Given the description of an element on the screen output the (x, y) to click on. 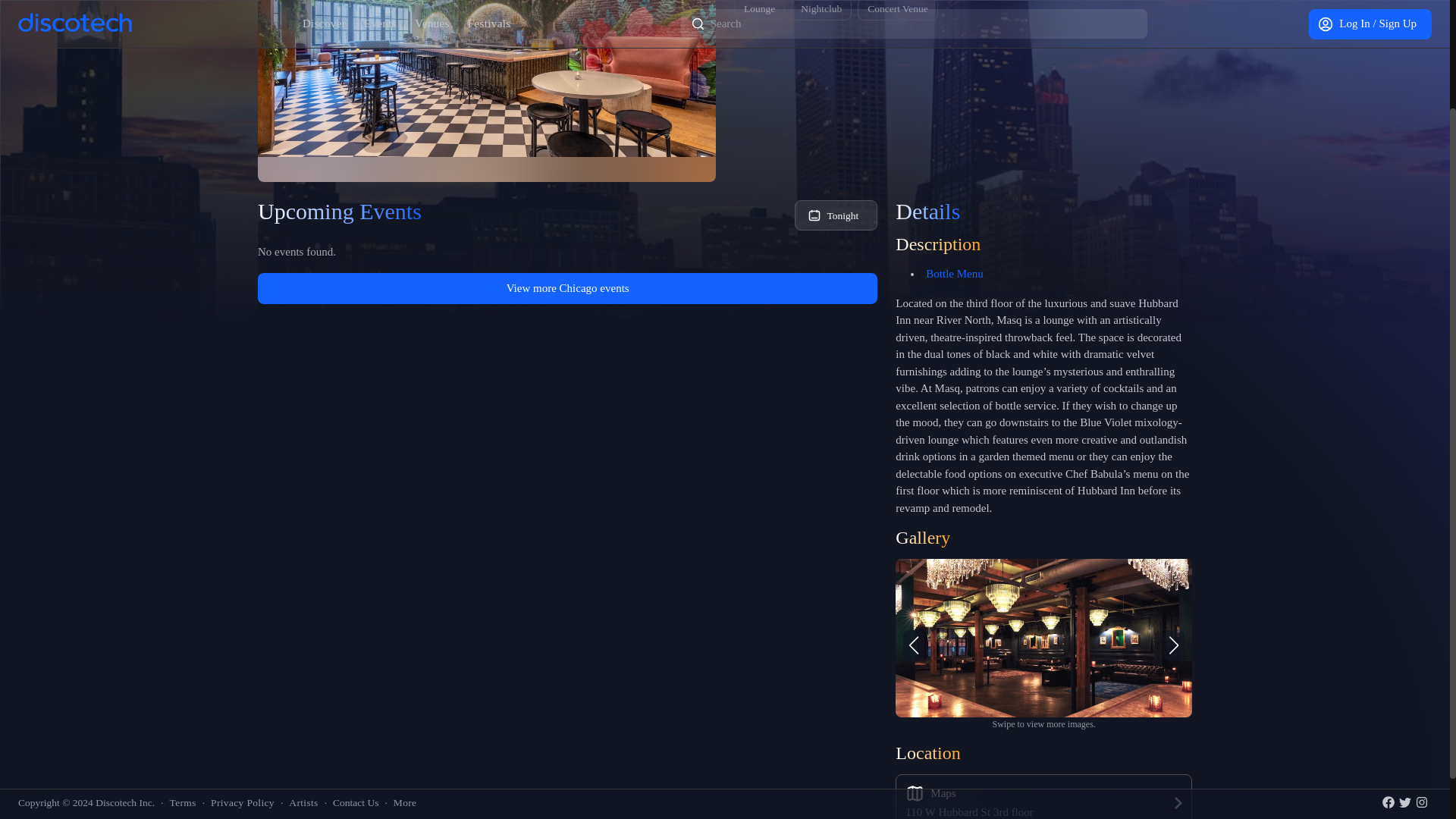
Privacy Policy (243, 668)
More (404, 668)
View more Chicago events (567, 287)
Terms (181, 668)
Bottle Menu (954, 273)
Artists (302, 668)
